Given the description of an element on the screen output the (x, y) to click on. 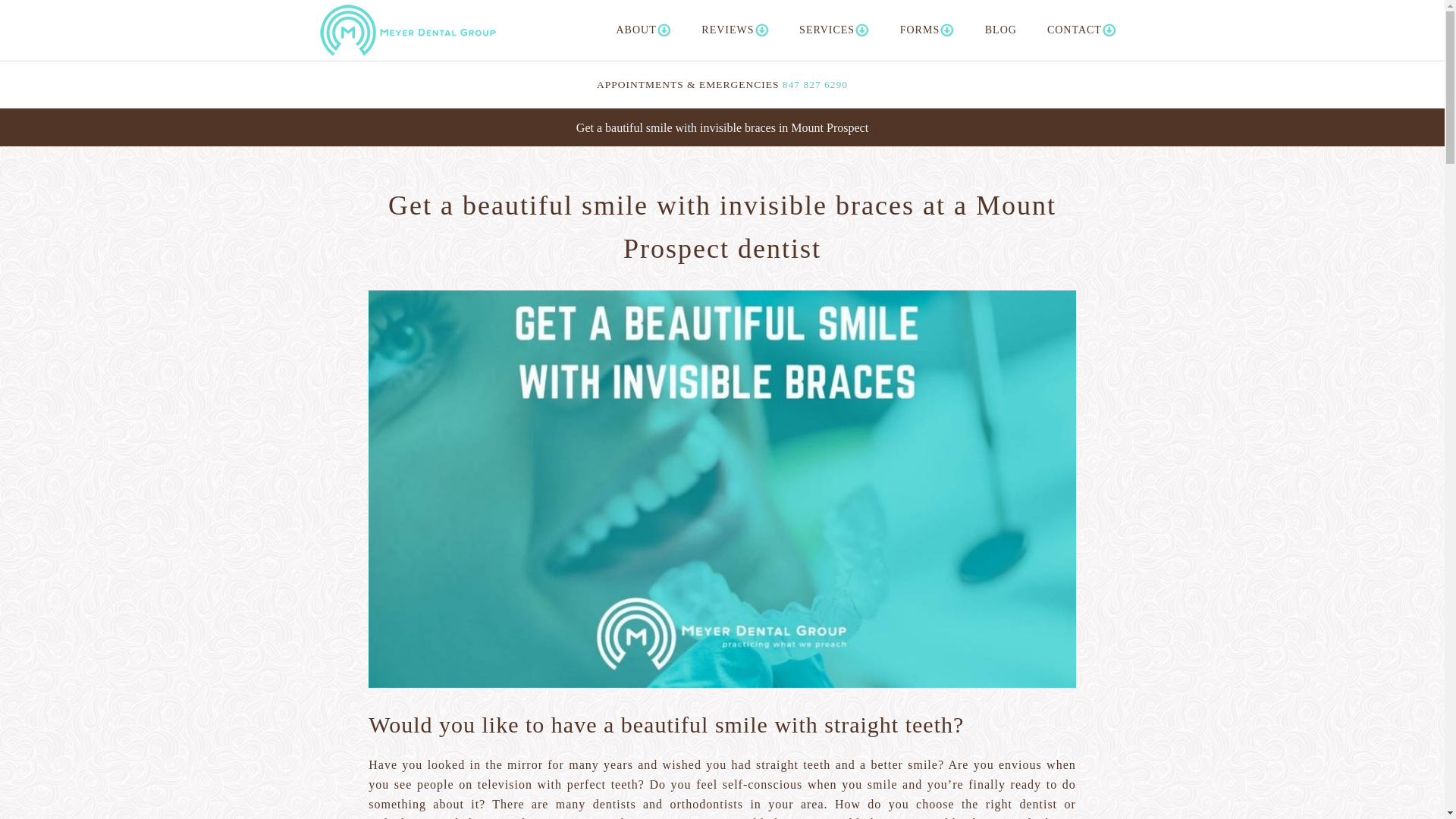
SERVICES (834, 29)
REVIEWS (734, 29)
ABOUT (642, 29)
